Given the description of an element on the screen output the (x, y) to click on. 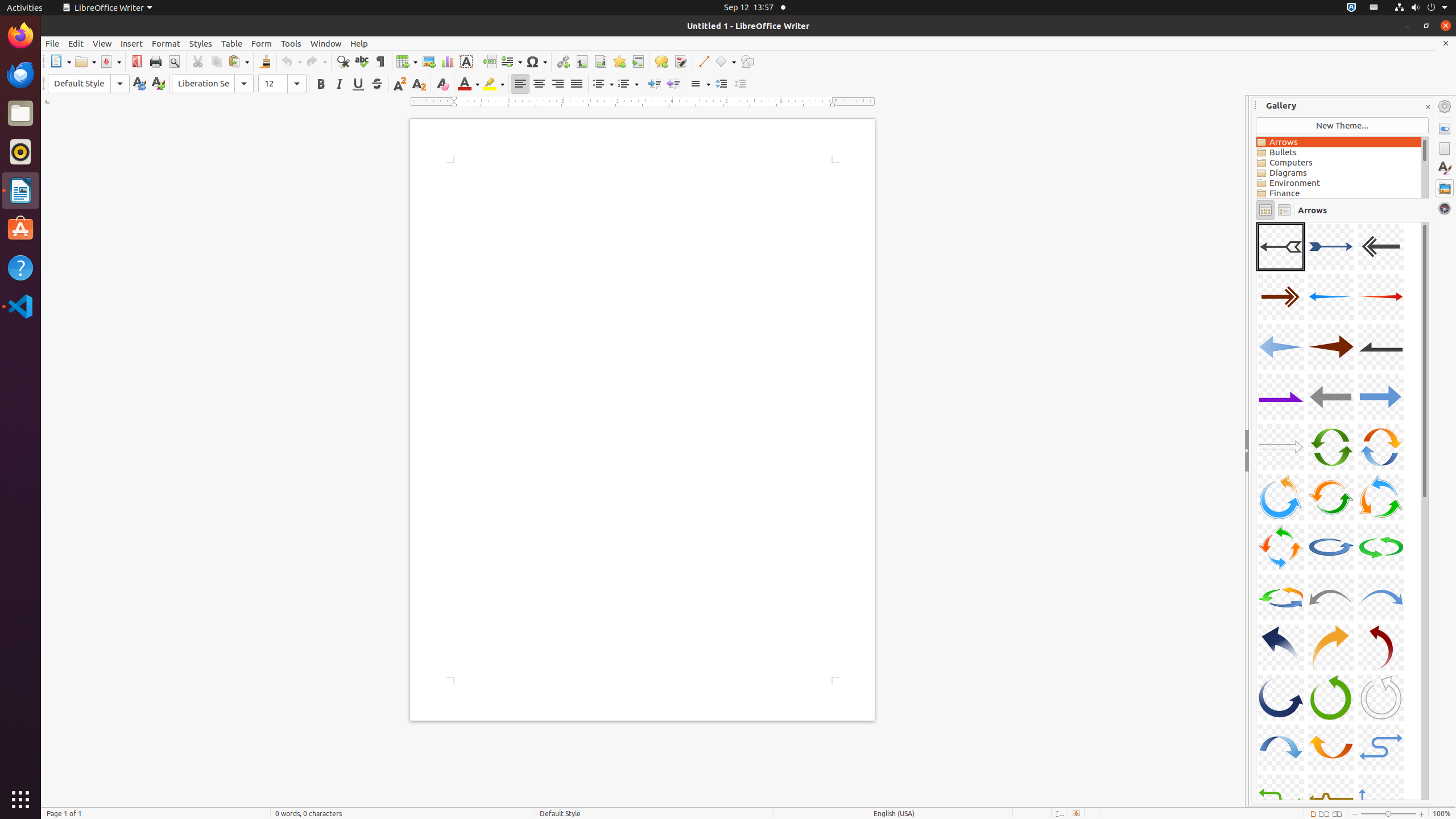
Insert Element type: menu (131, 43)
Styles Element type: menu (200, 43)
Symbol Element type: push-button (535, 61)
